Given the description of an element on the screen output the (x, y) to click on. 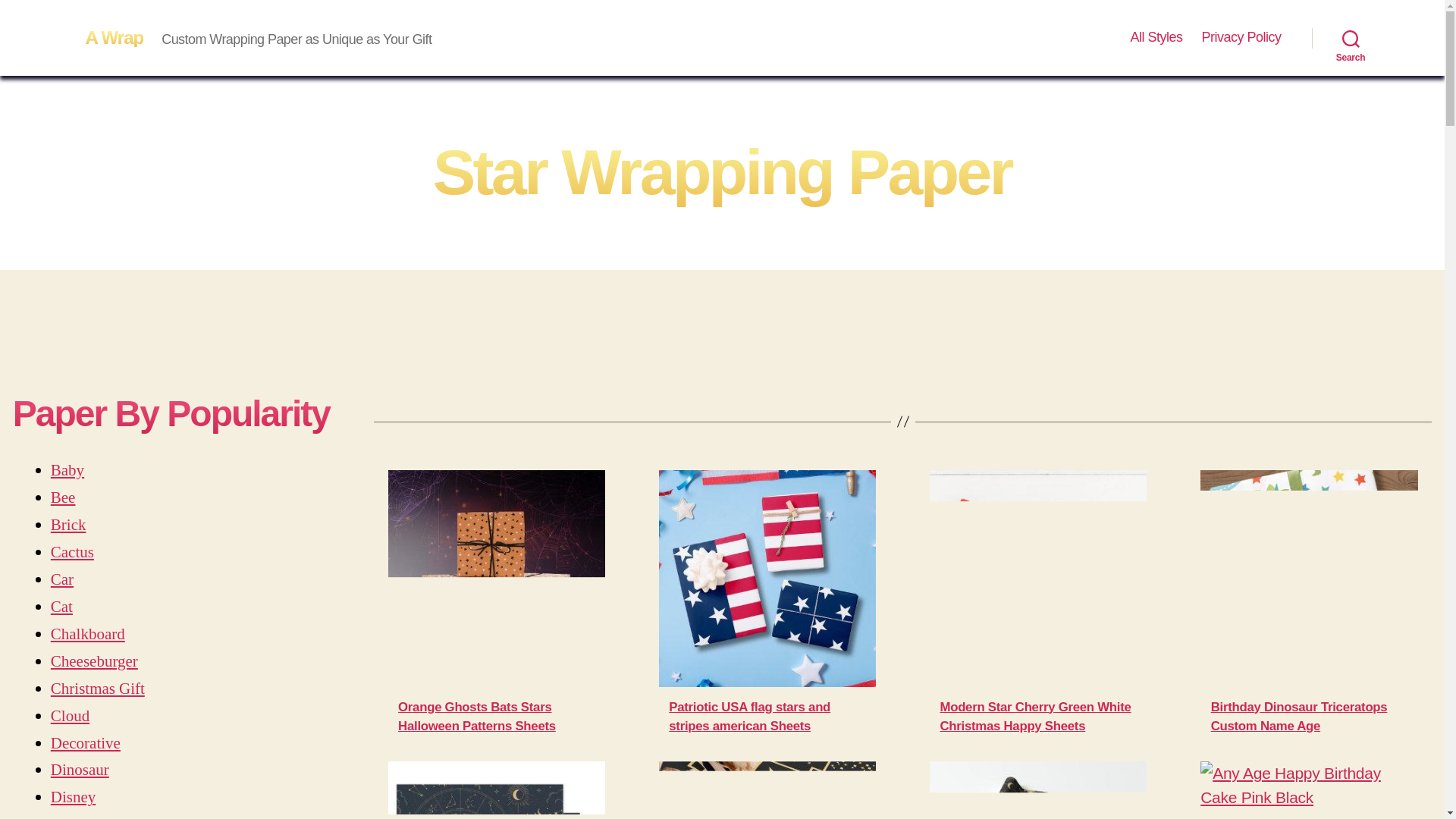
Search (1350, 37)
Privacy Policy (1241, 37)
A Wrap (113, 37)
All Styles (1155, 37)
